Given the description of an element on the screen output the (x, y) to click on. 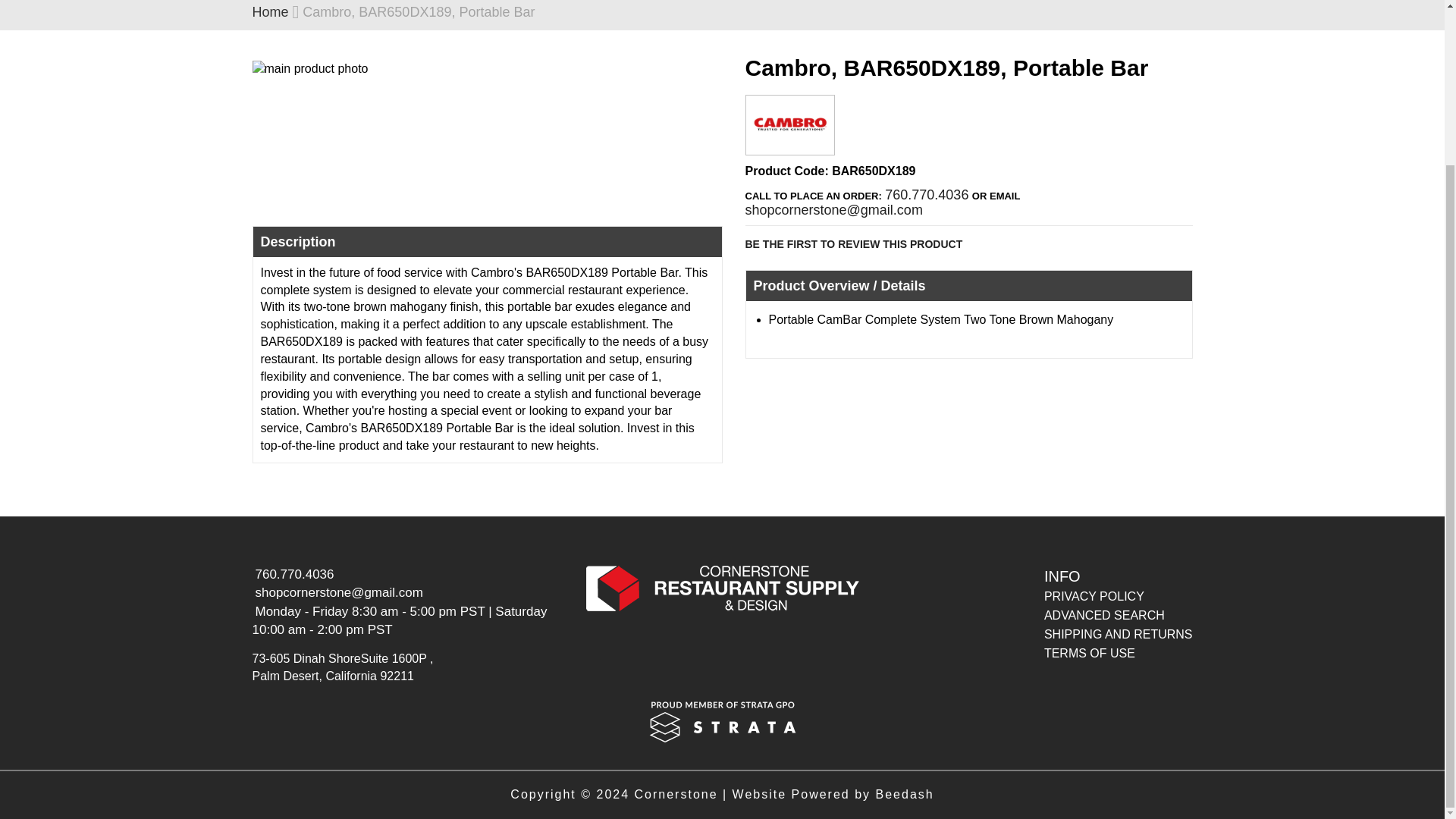
Proud Member of Strata GPO (721, 720)
Go to Home Page (269, 11)
Cambro (790, 143)
